Given the description of an element on the screen output the (x, y) to click on. 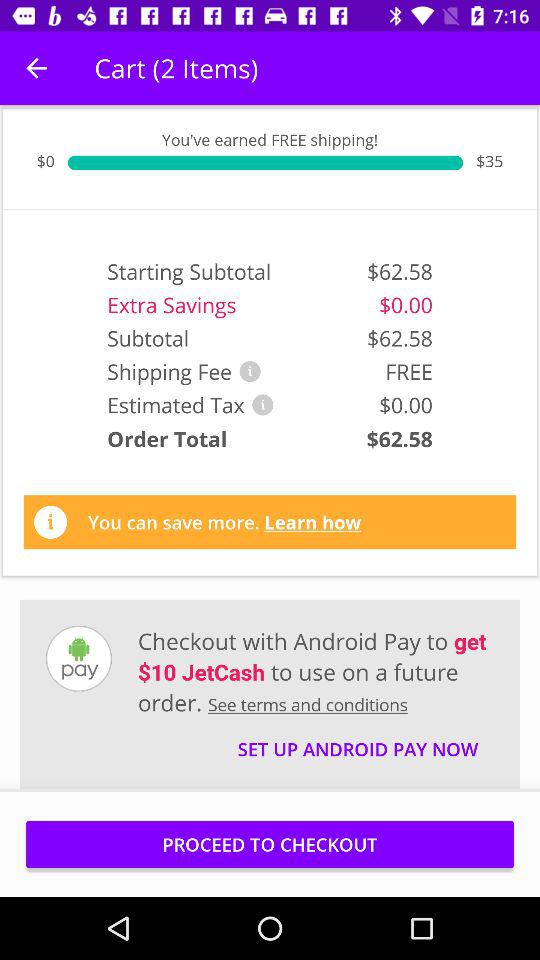
turn on item below you can save item (315, 671)
